Given the description of an element on the screen output the (x, y) to click on. 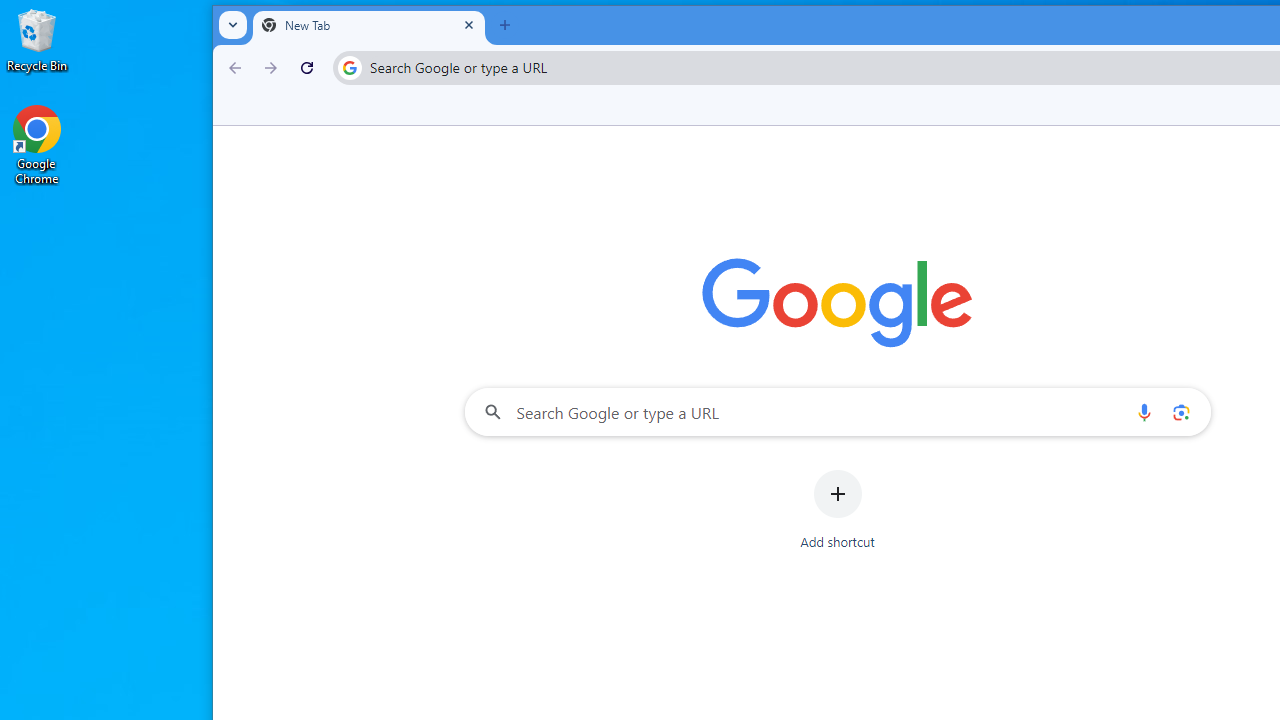
Google Chrome (37, 144)
Recycle Bin (37, 39)
